Given the description of an element on the screen output the (x, y) to click on. 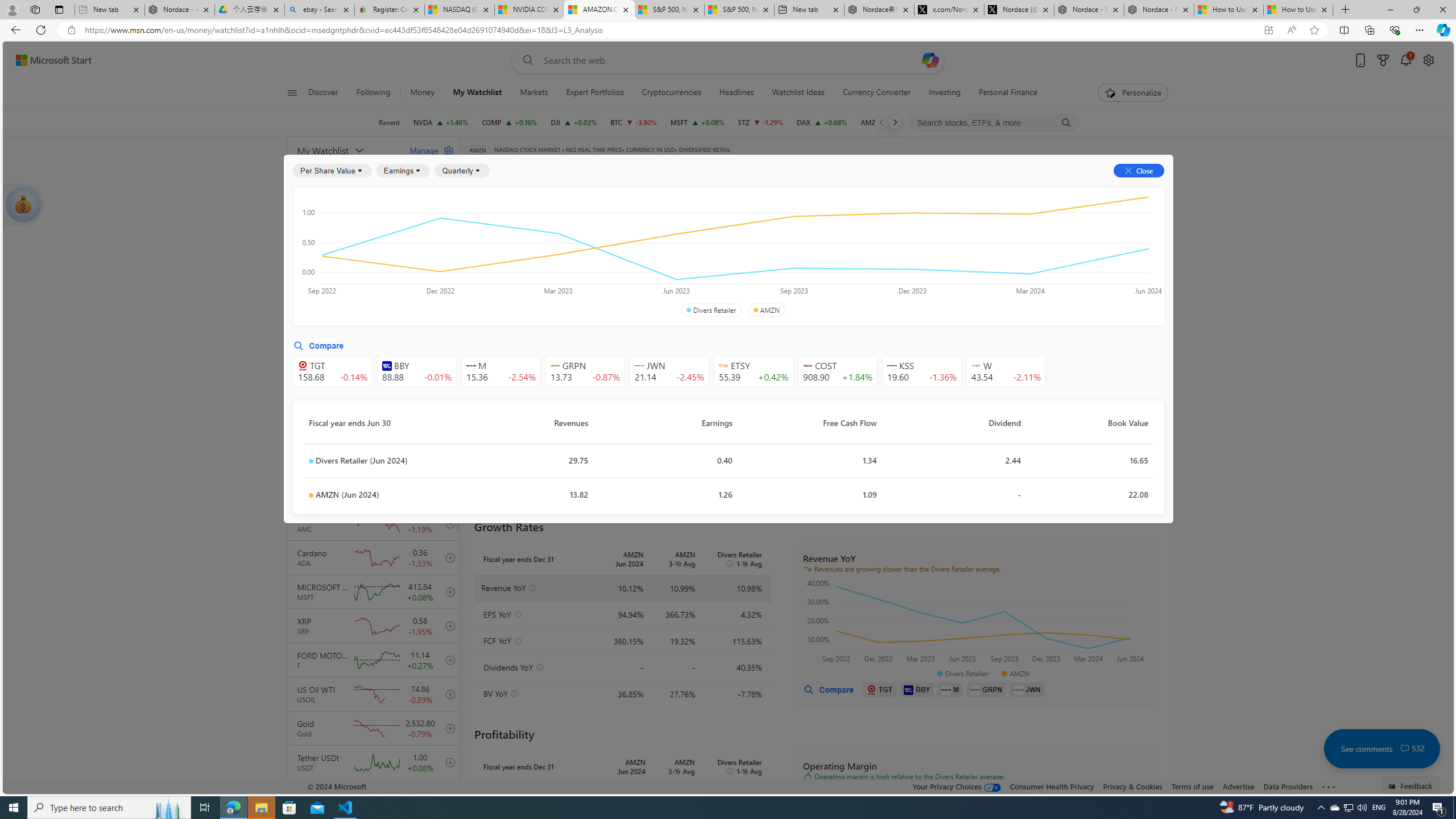
Cryptocurrencies (671, 92)
Financials (846, 188)
STZ CONSTELLATION BRANDS, INC. decrease 239.98 -3.13 -1.29% (760, 122)
Consumer Health Privacy (1051, 785)
Key Ratios (493, 223)
Sentiment (1066, 188)
Recent (389, 121)
